Given the description of an element on the screen output the (x, y) to click on. 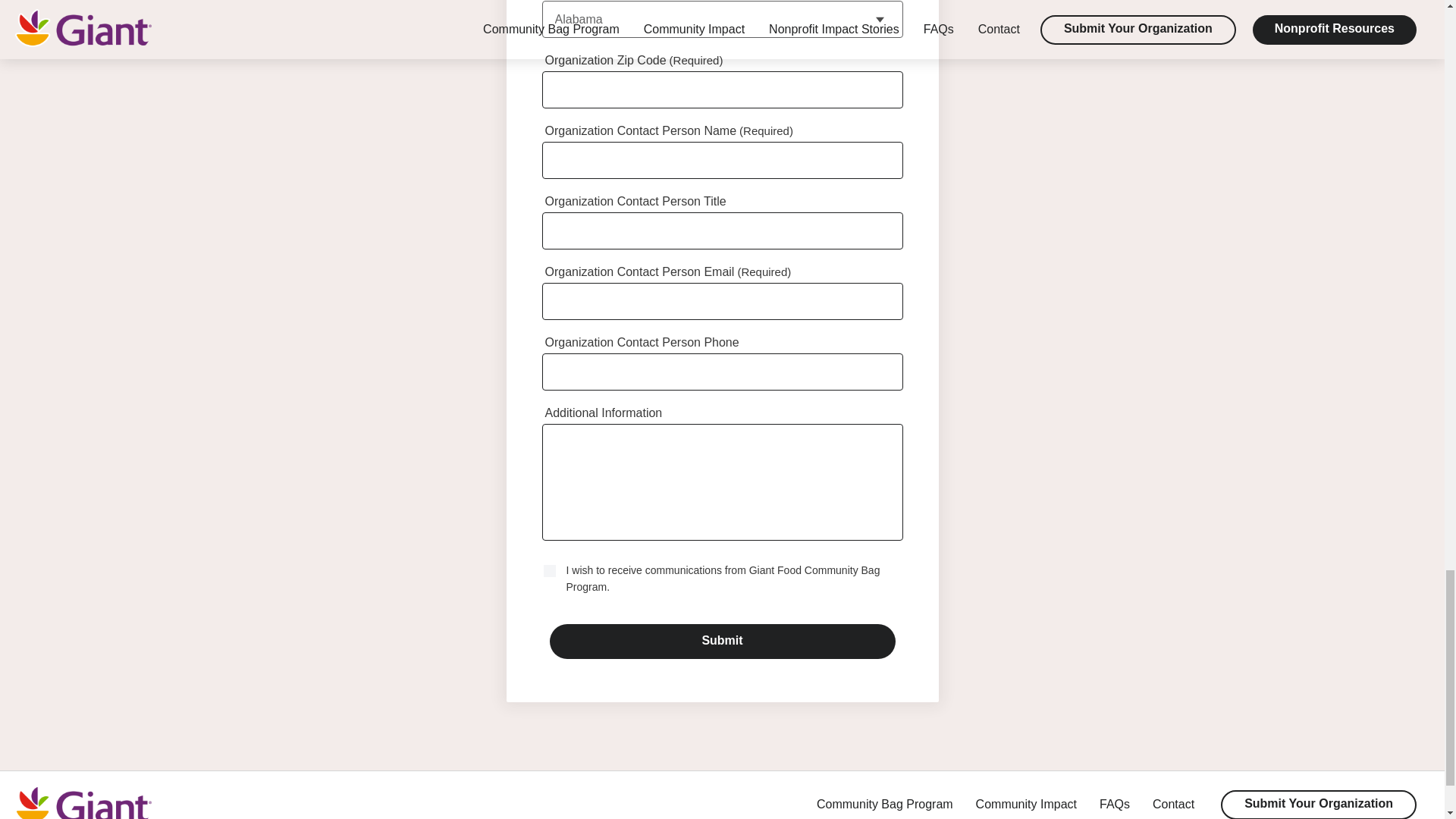
Community Bag Program (884, 804)
Contact (1173, 804)
Community Impact (1026, 804)
Submit (721, 641)
FAQs (1114, 804)
Submit (721, 641)
